Given the description of an element on the screen output the (x, y) to click on. 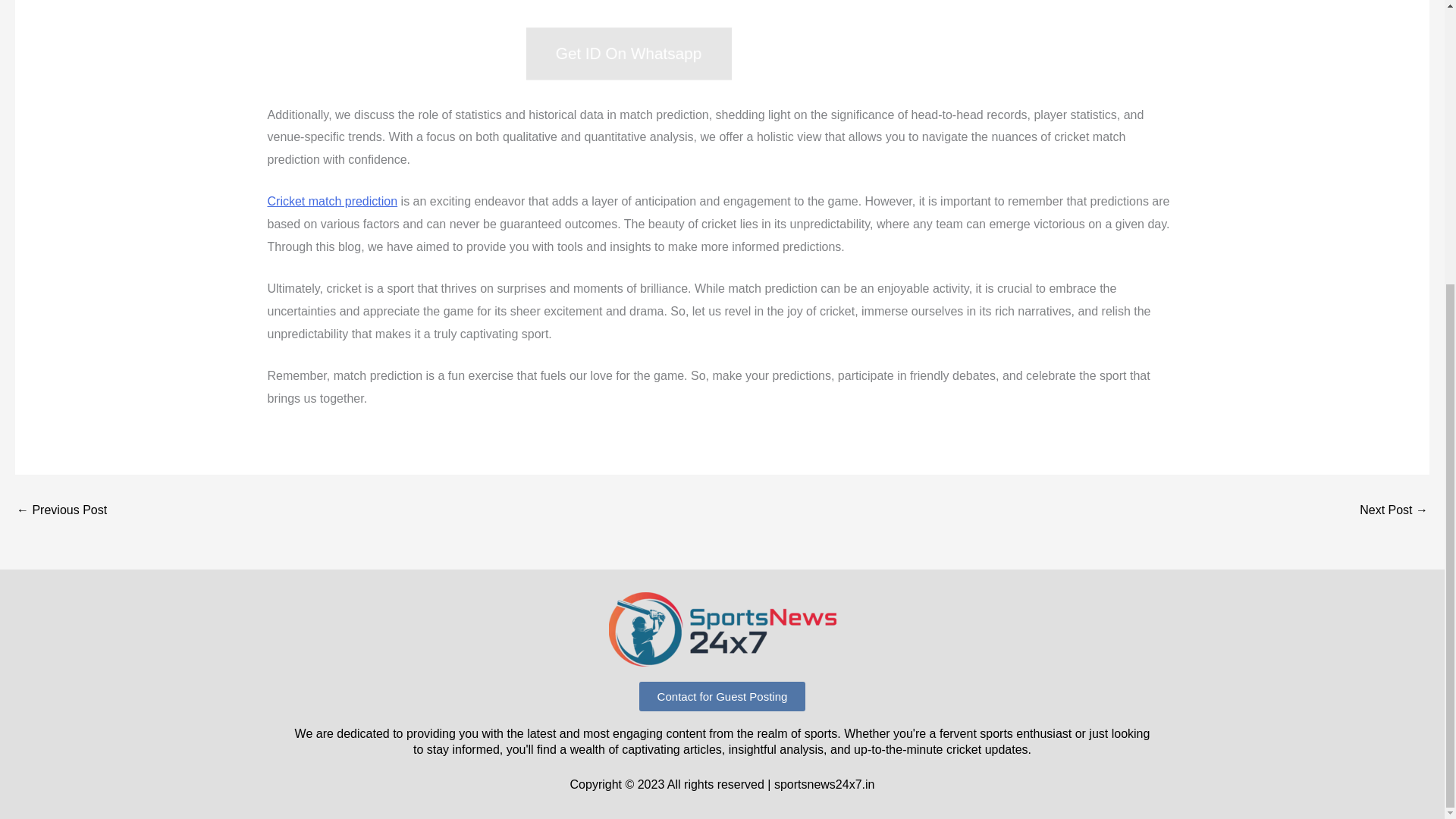
Recapping the Thrills, Records, and Unforgettable Moments (1393, 510)
Contact for Guest Posting (722, 696)
Get ID On Whatsapp (592, 46)
Cricket match prediction (331, 201)
